Given the description of an element on the screen output the (x, y) to click on. 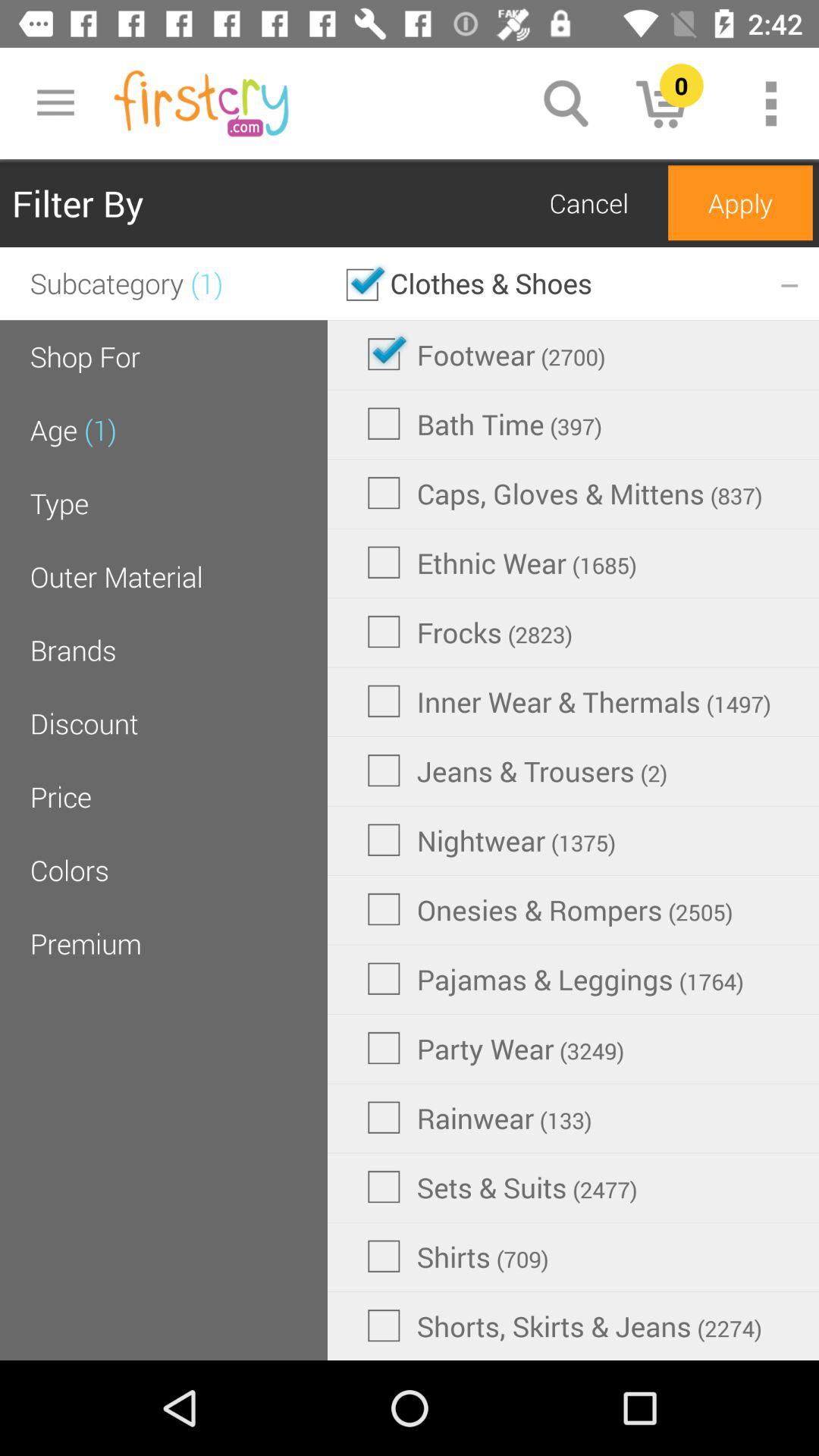
turn off the colors item (69, 869)
